Given the description of an element on the screen output the (x, y) to click on. 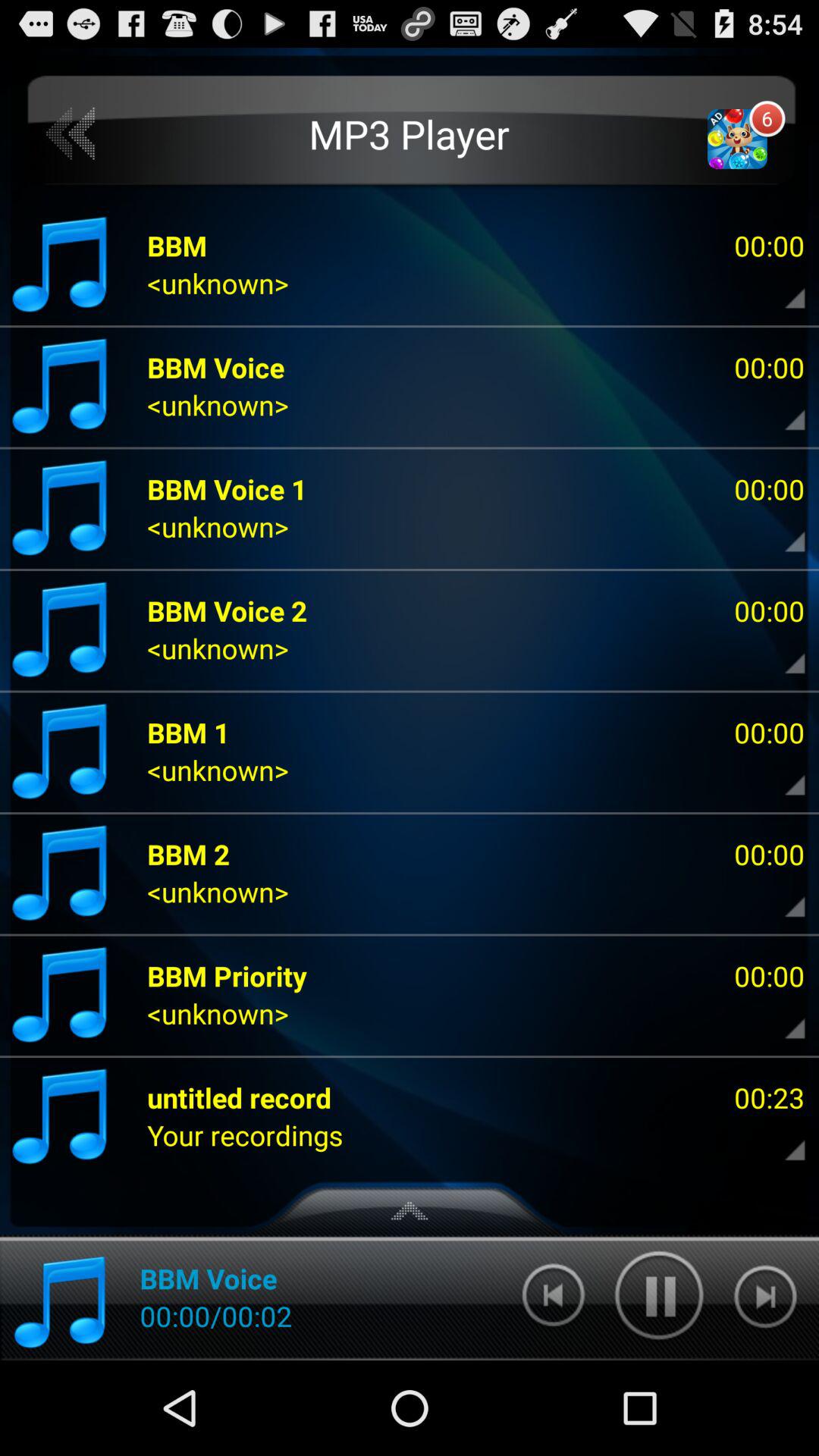
tap the icon next to 00:00 app (227, 975)
